Given the description of an element on the screen output the (x, y) to click on. 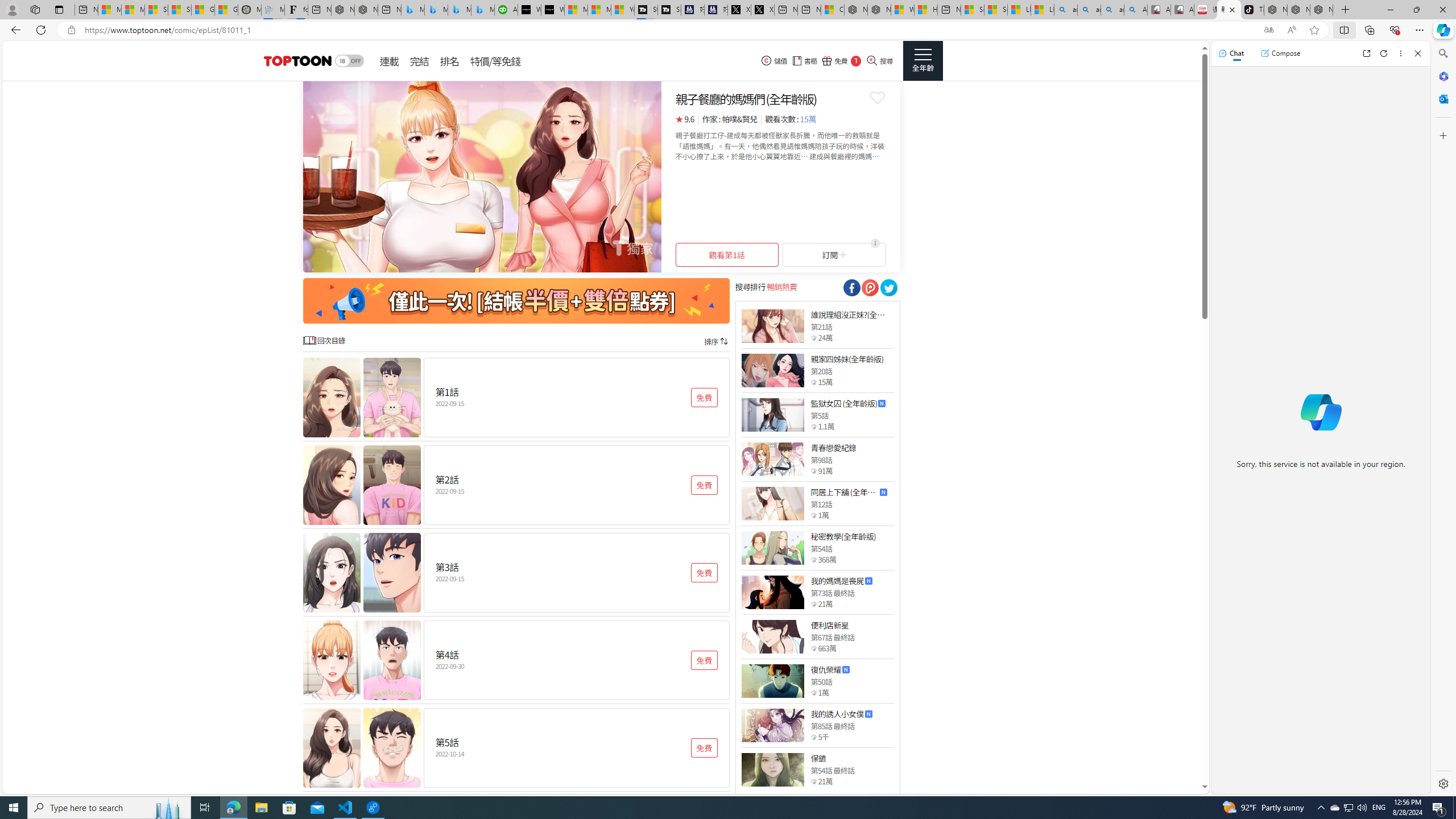
Manatee Mortality Statistics | FWC (249, 9)
